Given the description of an element on the screen output the (x, y) to click on. 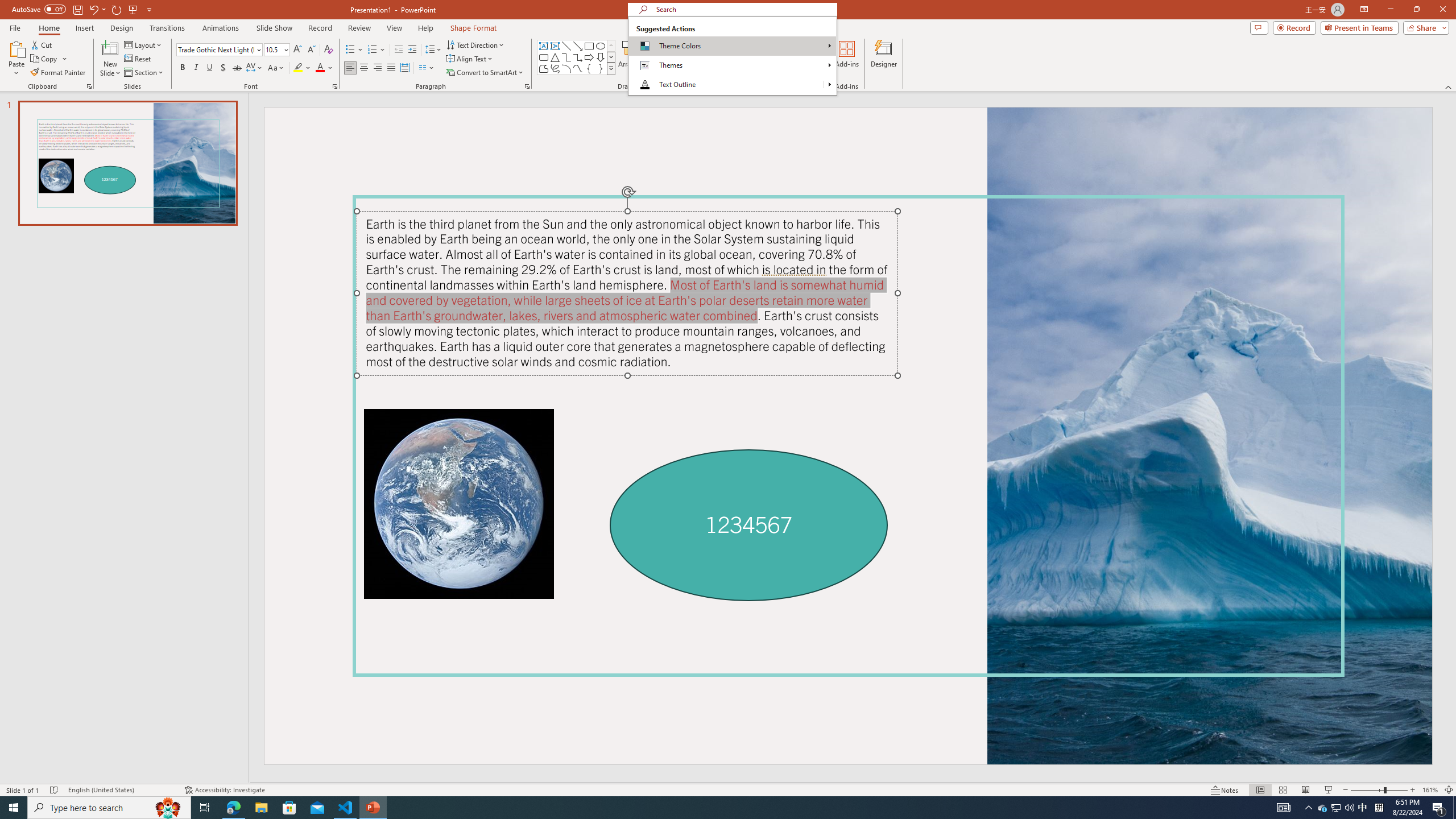
Theme Colors (731, 45)
Text Outline (731, 84)
Text Outline (725, 84)
